Given the description of an element on the screen output the (x, y) to click on. 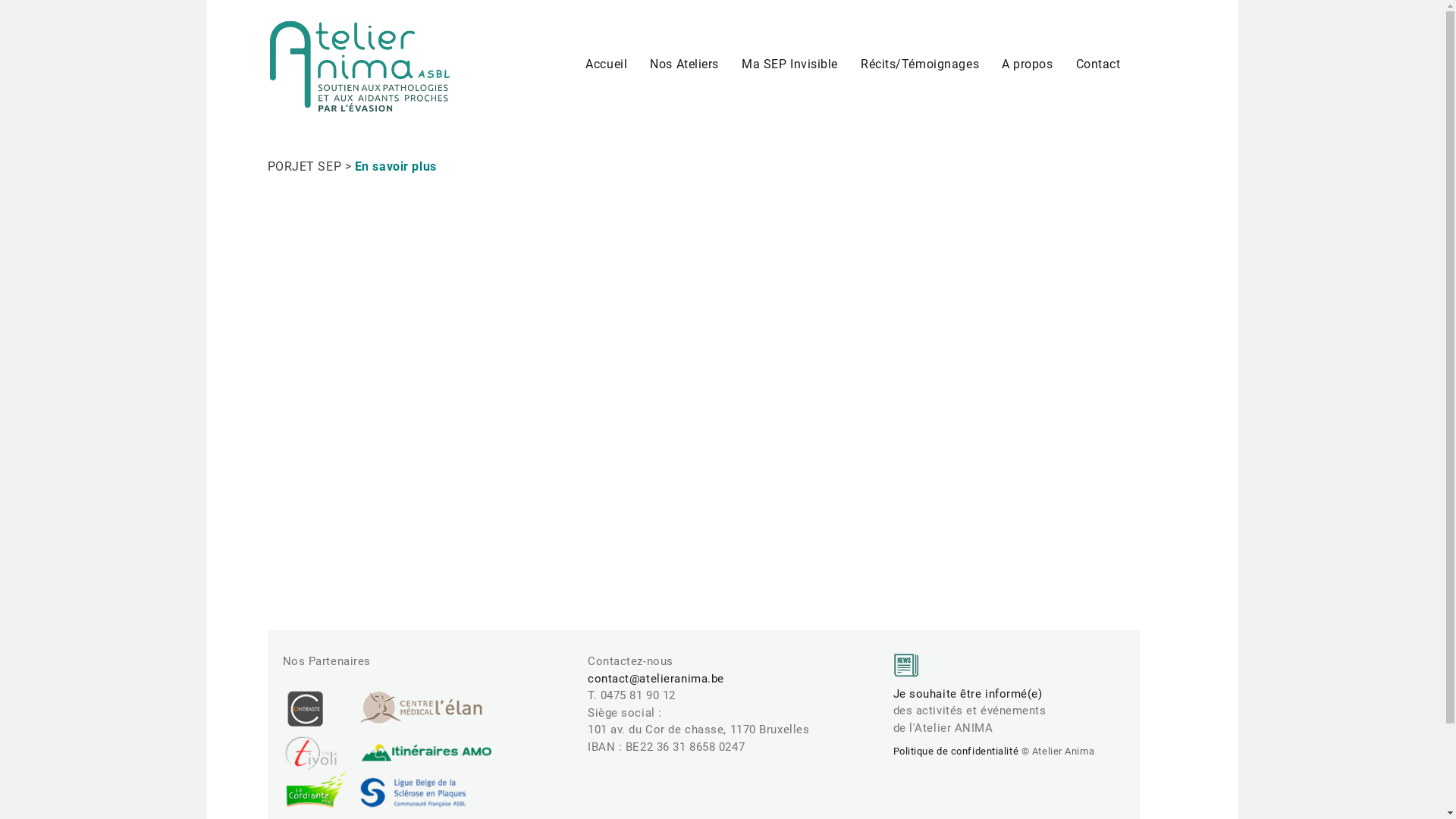
Contact Element type: text (1098, 63)
A propos Element type: text (1026, 63)
Nos Ateliers Element type: text (684, 63)
Accueil Element type: text (606, 63)
En savoir plus Element type: text (395, 166)
contact@atelieranima.be Element type: text (655, 679)
Ma SEP Invisible Element type: text (789, 63)
